Given the description of an element on the screen output the (x, y) to click on. 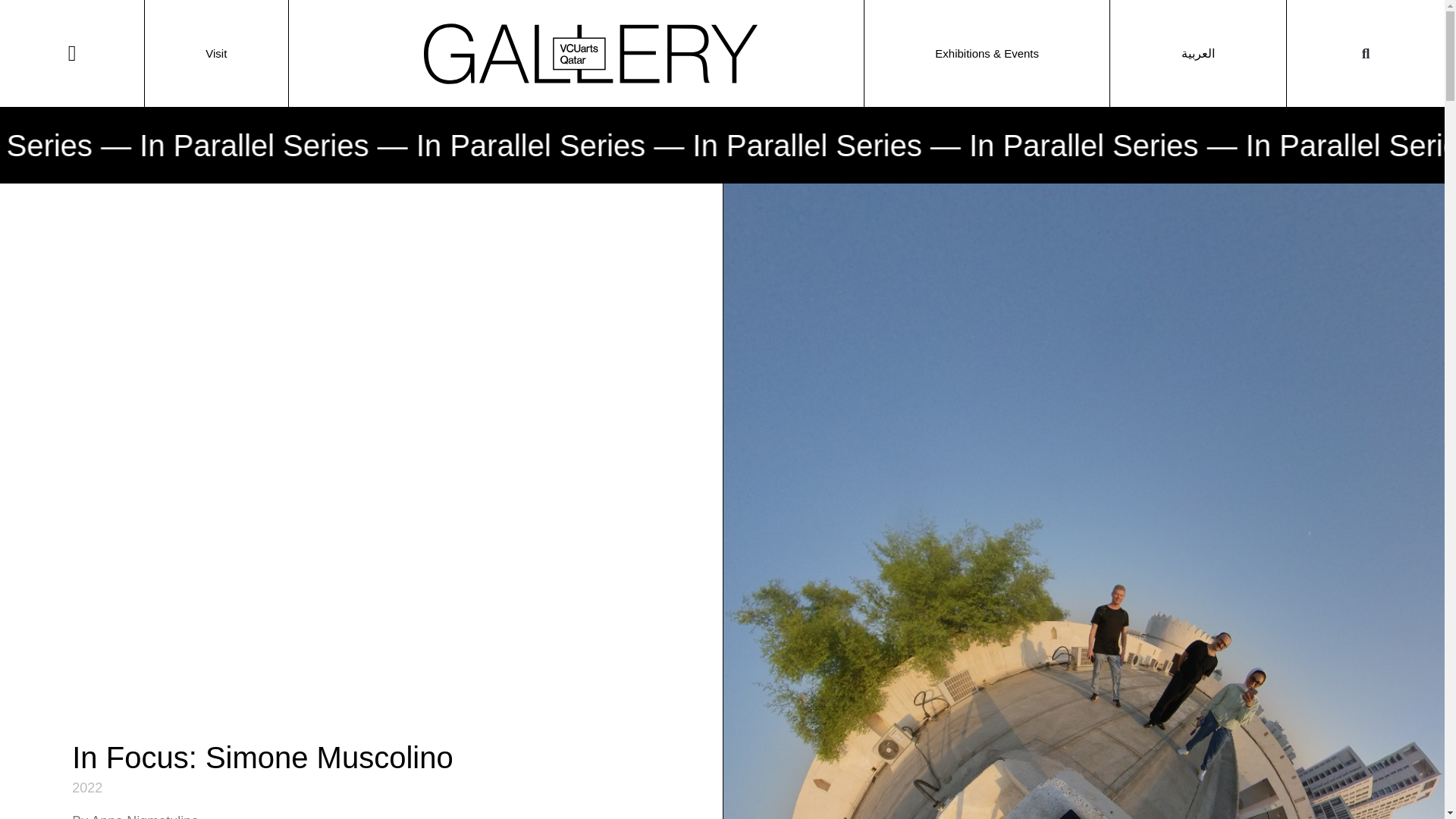
In Parallel Series (397, 145)
In Parallel Series (130, 145)
In Parallel Series (1222, 145)
In Parallel Series (672, 145)
Visit (216, 52)
In Parallel Series (947, 145)
2022 (86, 788)
